Given the description of an element on the screen output the (x, y) to click on. 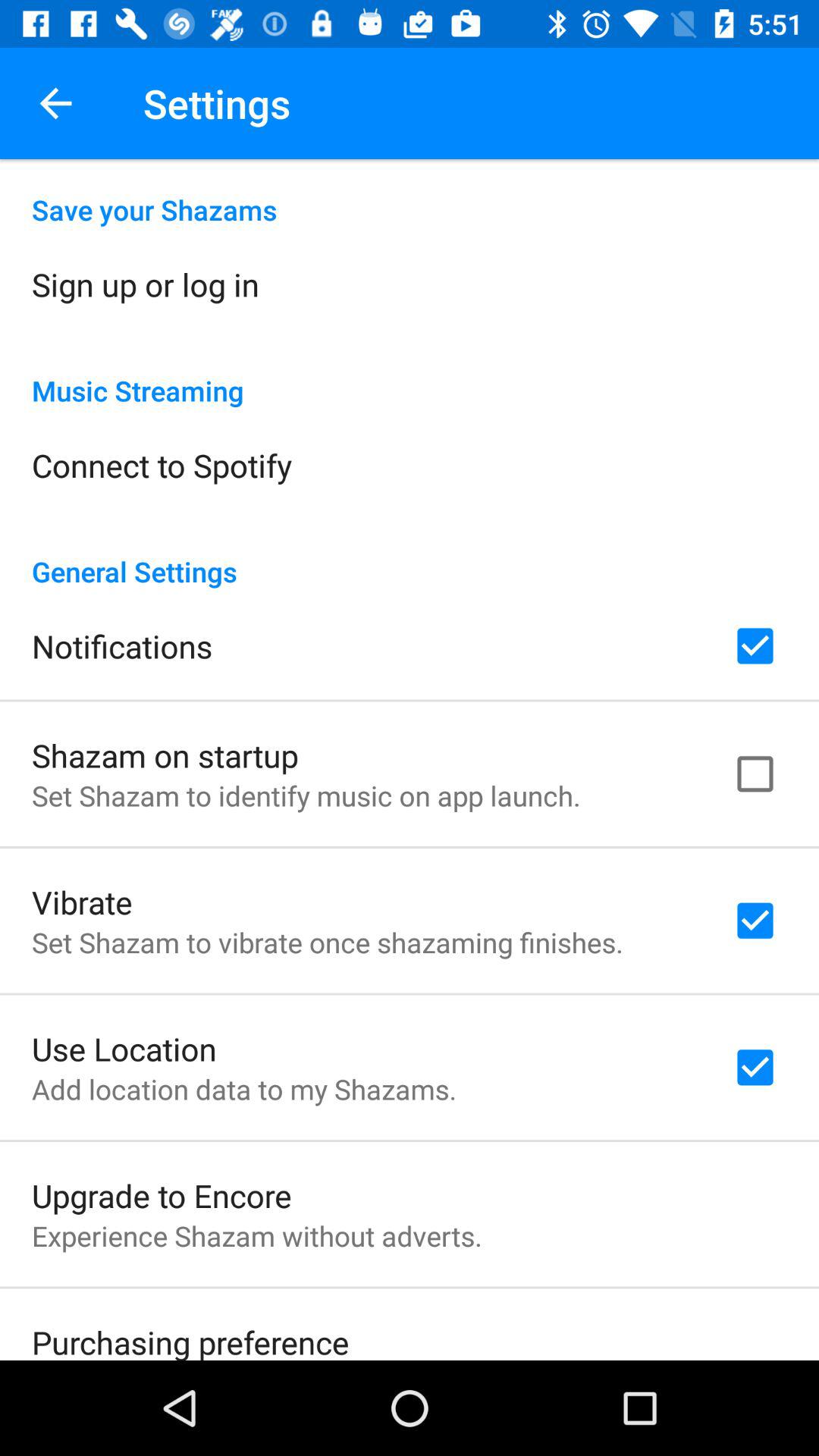
turn off the icon below sign up or item (409, 374)
